Given the description of an element on the screen output the (x, y) to click on. 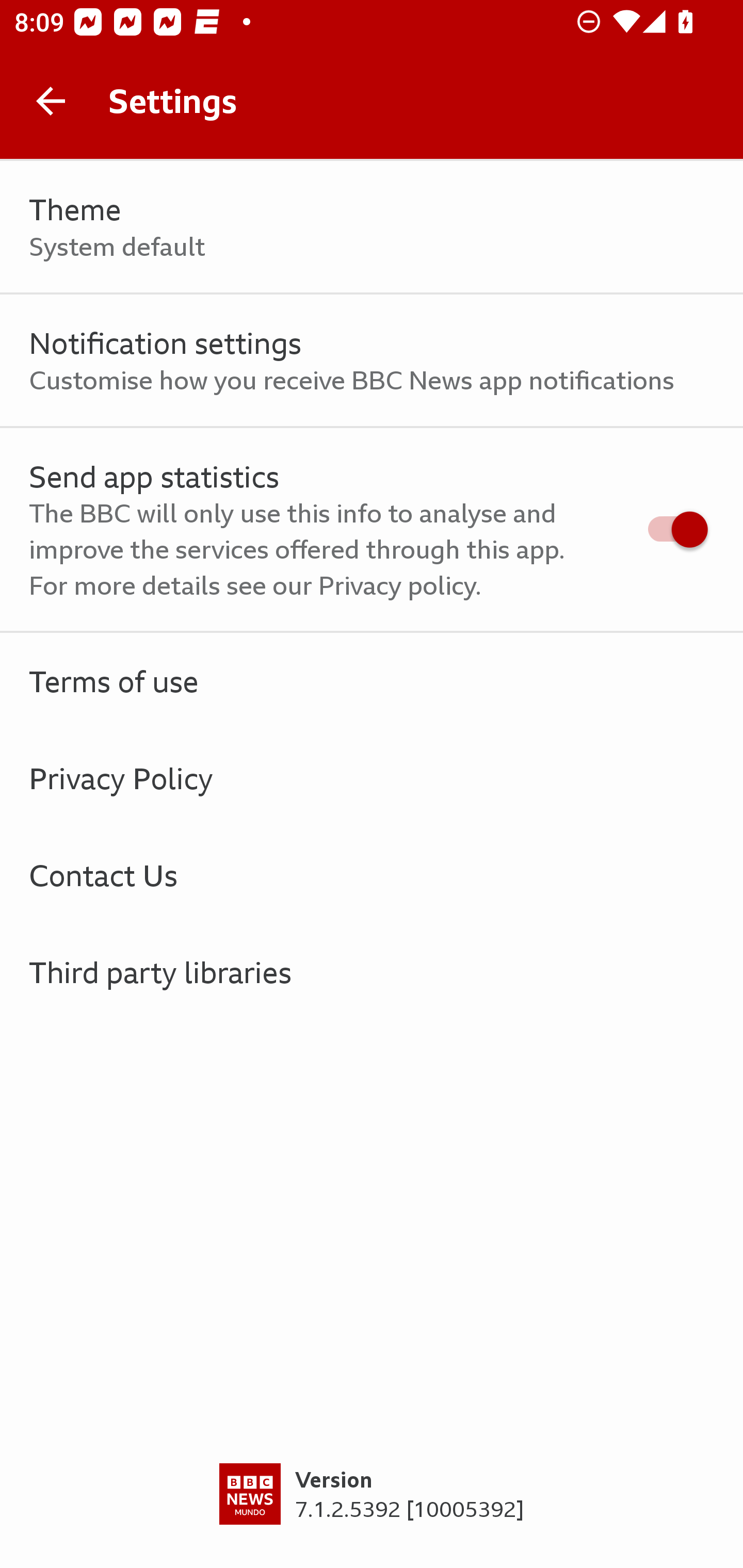
Back (50, 101)
Theme System default (371, 227)
Terms of use (371, 681)
Privacy Policy (371, 777)
Contact Us (371, 874)
Third party libraries (371, 971)
Version 7.1.2.5392 [10005392] (371, 1515)
